Given the description of an element on the screen output the (x, y) to click on. 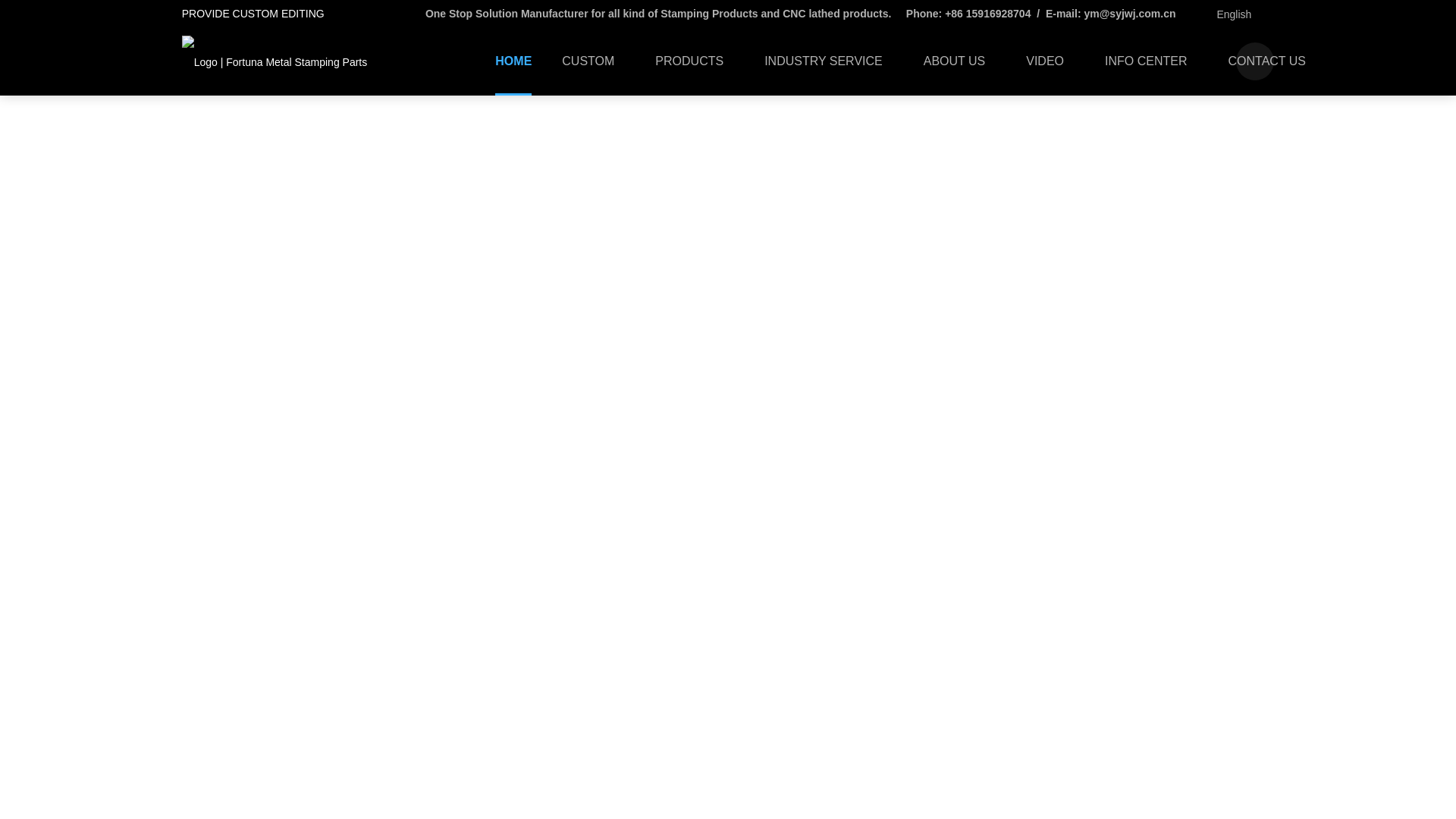
HOME (513, 61)
CUSTOM (593, 61)
PRODUCTS (694, 61)
